Given the description of an element on the screen output the (x, y) to click on. 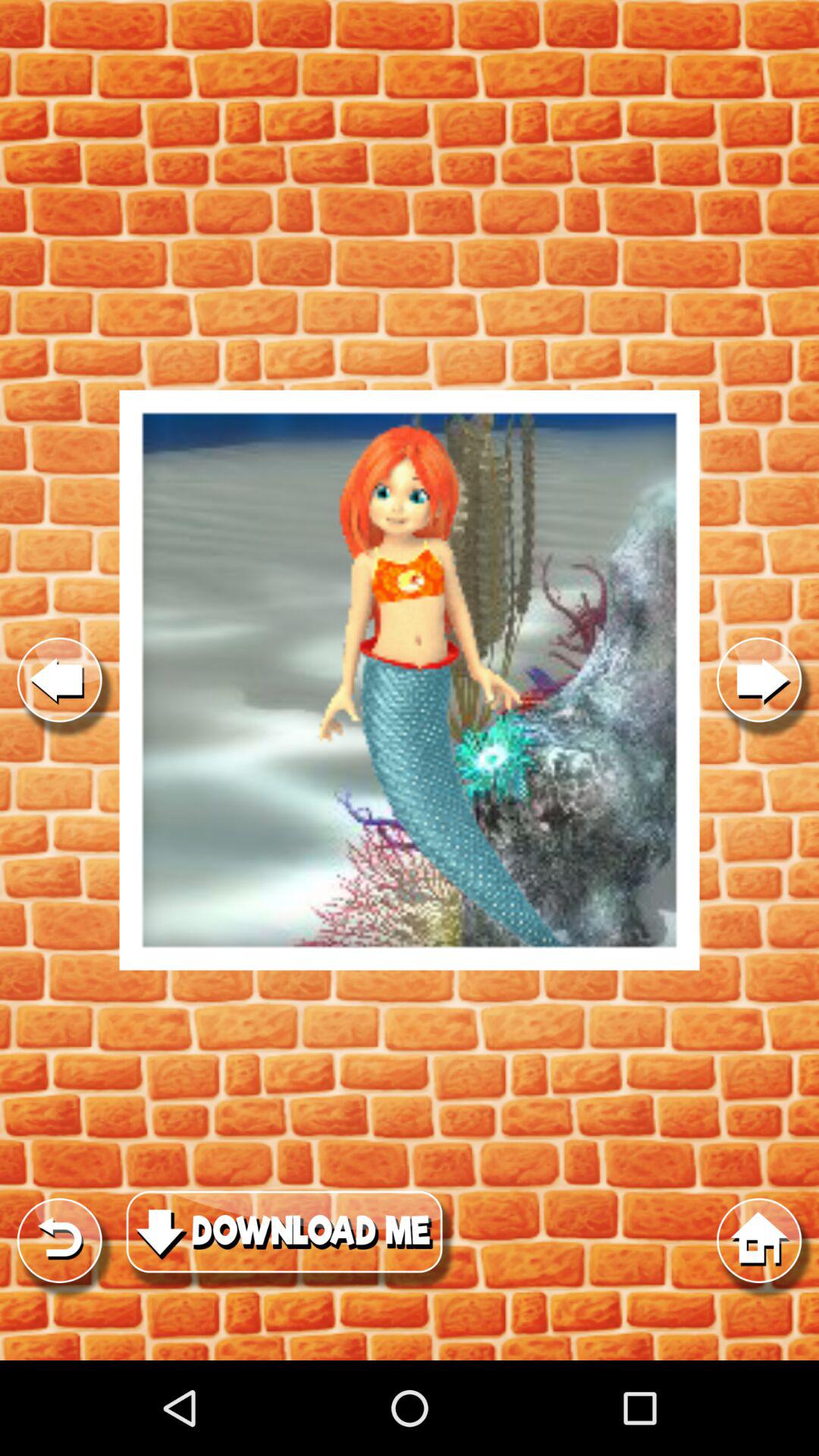
game option (409, 680)
